Given the description of an element on the screen output the (x, y) to click on. 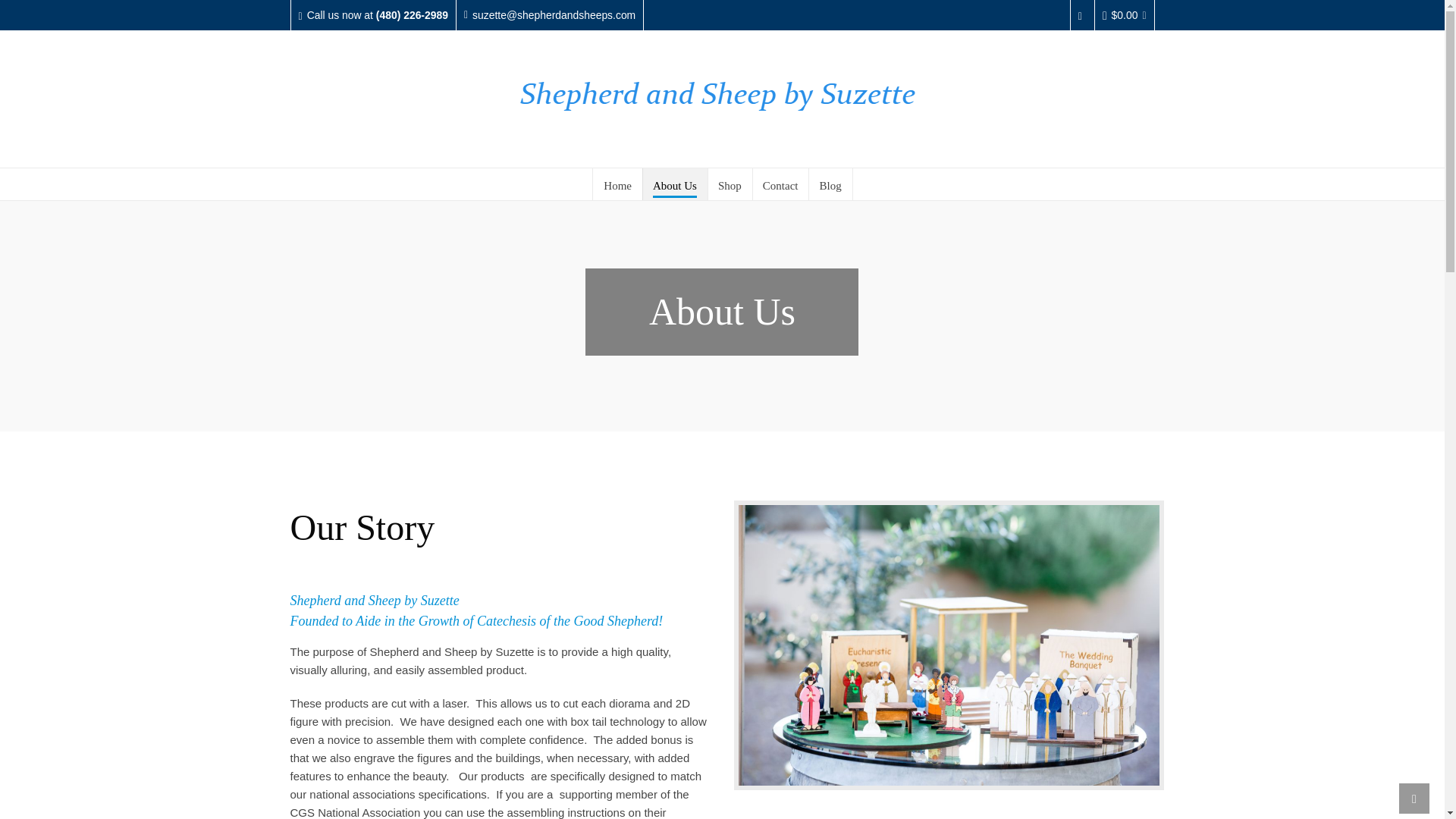
Home (617, 183)
Shop (729, 183)
Blog (829, 183)
Contact (780, 183)
Euch-Wedd Combo Prod Pics1 (948, 645)
About Us (674, 183)
